Given the description of an element on the screen output the (x, y) to click on. 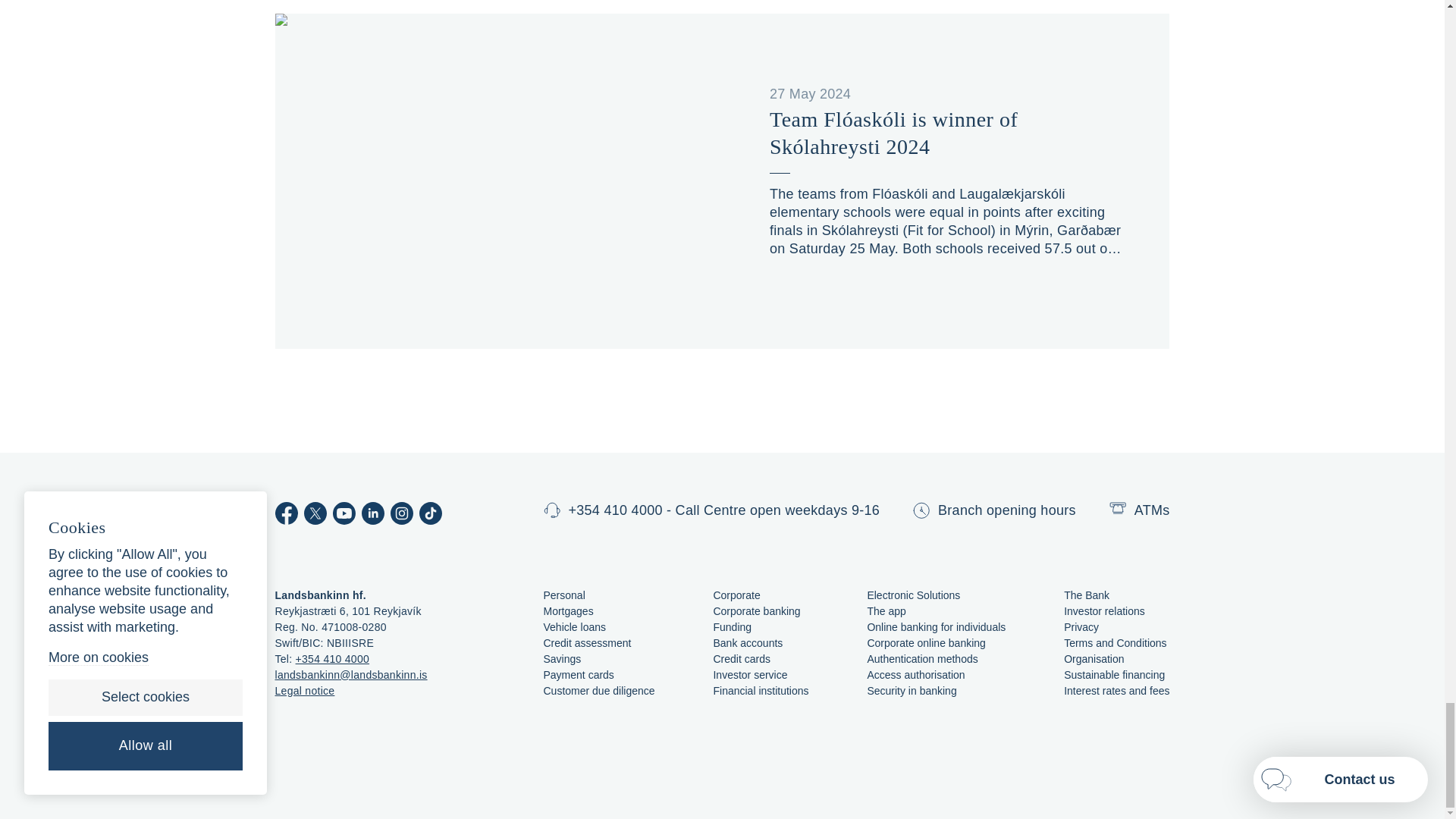
Branch opening hours (993, 513)
Legal notice (304, 690)
ATMs (1139, 511)
